Given the description of an element on the screen output the (x, y) to click on. 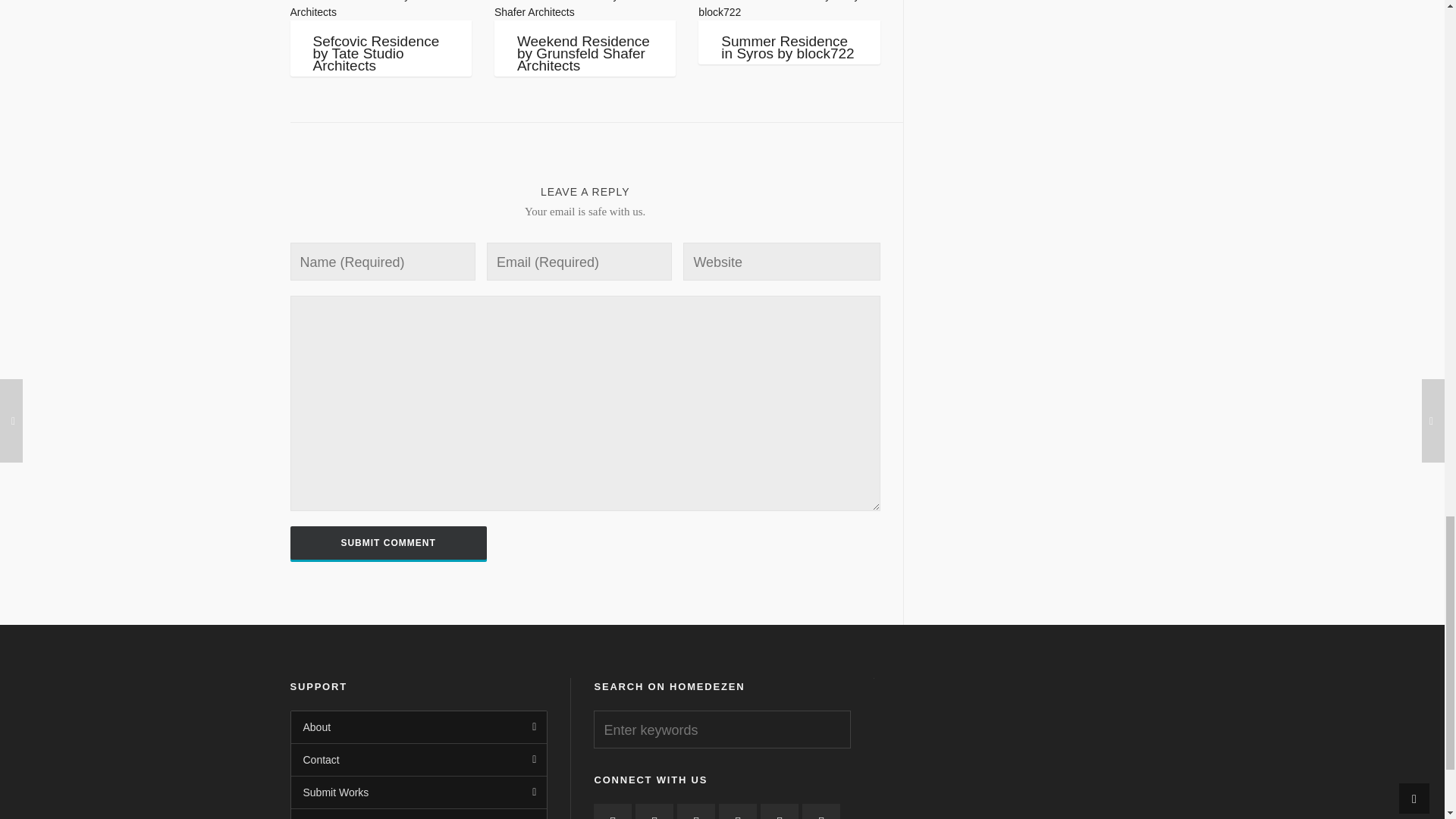
Sefcovic Residence by Tate Studio Architects (379, 10)
Weekend Residence by Grunsfeld Shafer Architects (585, 10)
Summer Residence in Syros by block722 (788, 10)
Submit Comment (387, 542)
